Given the description of an element on the screen output the (x, y) to click on. 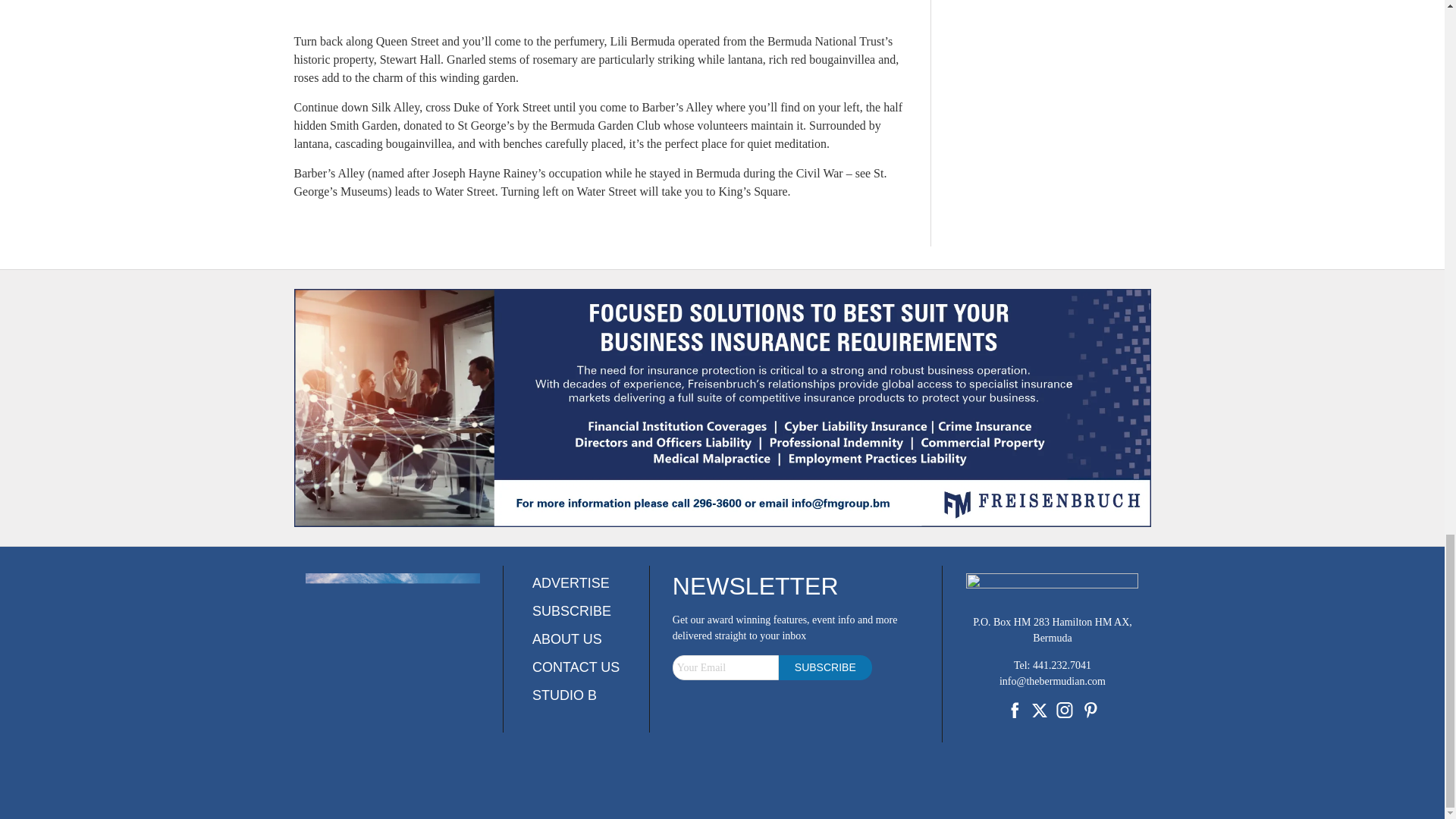
ADVERTISE (571, 582)
ABOUT US (567, 639)
SUBSCRIBE (571, 611)
